Given the description of an element on the screen output the (x, y) to click on. 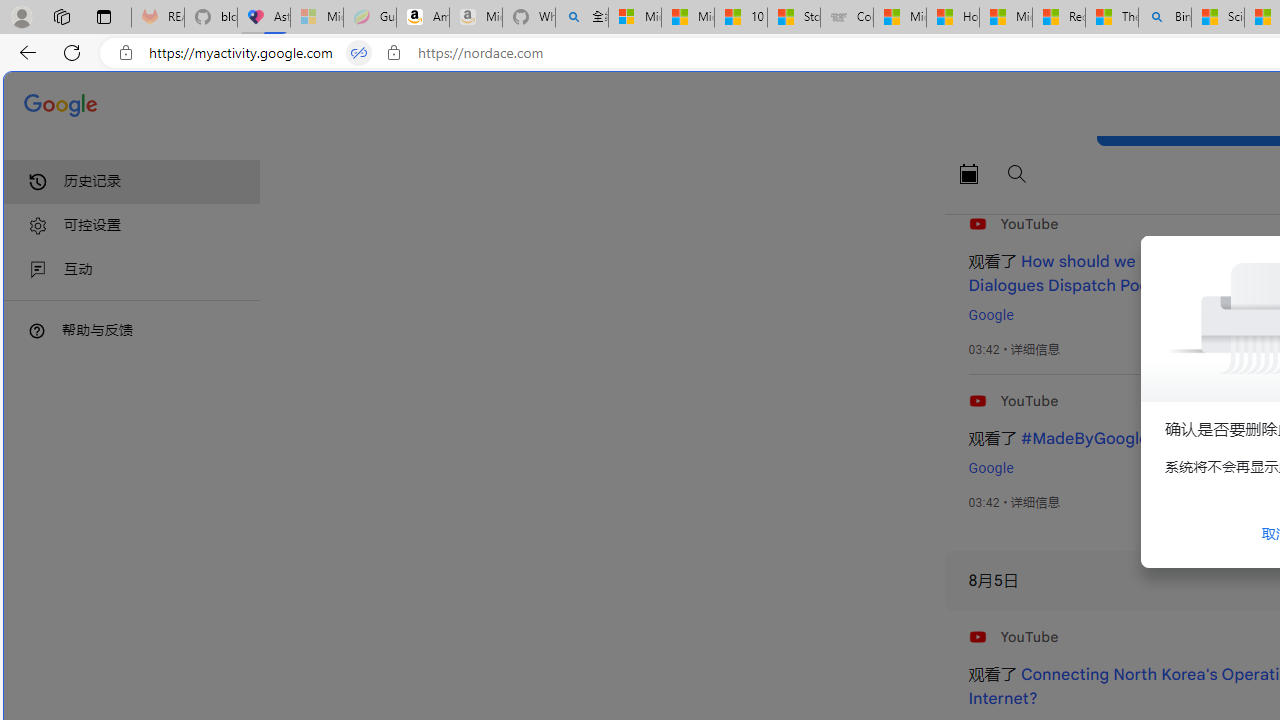
How I Got Rid of Microsoft Edge's Unnecessary Features (952, 17)
Class: DTiKkd NMm5M (37, 330)
Tabs in split screen (358, 53)
Bing (1165, 17)
Recipes - MSN (1059, 17)
